Given the description of an element on the screen output the (x, y) to click on. 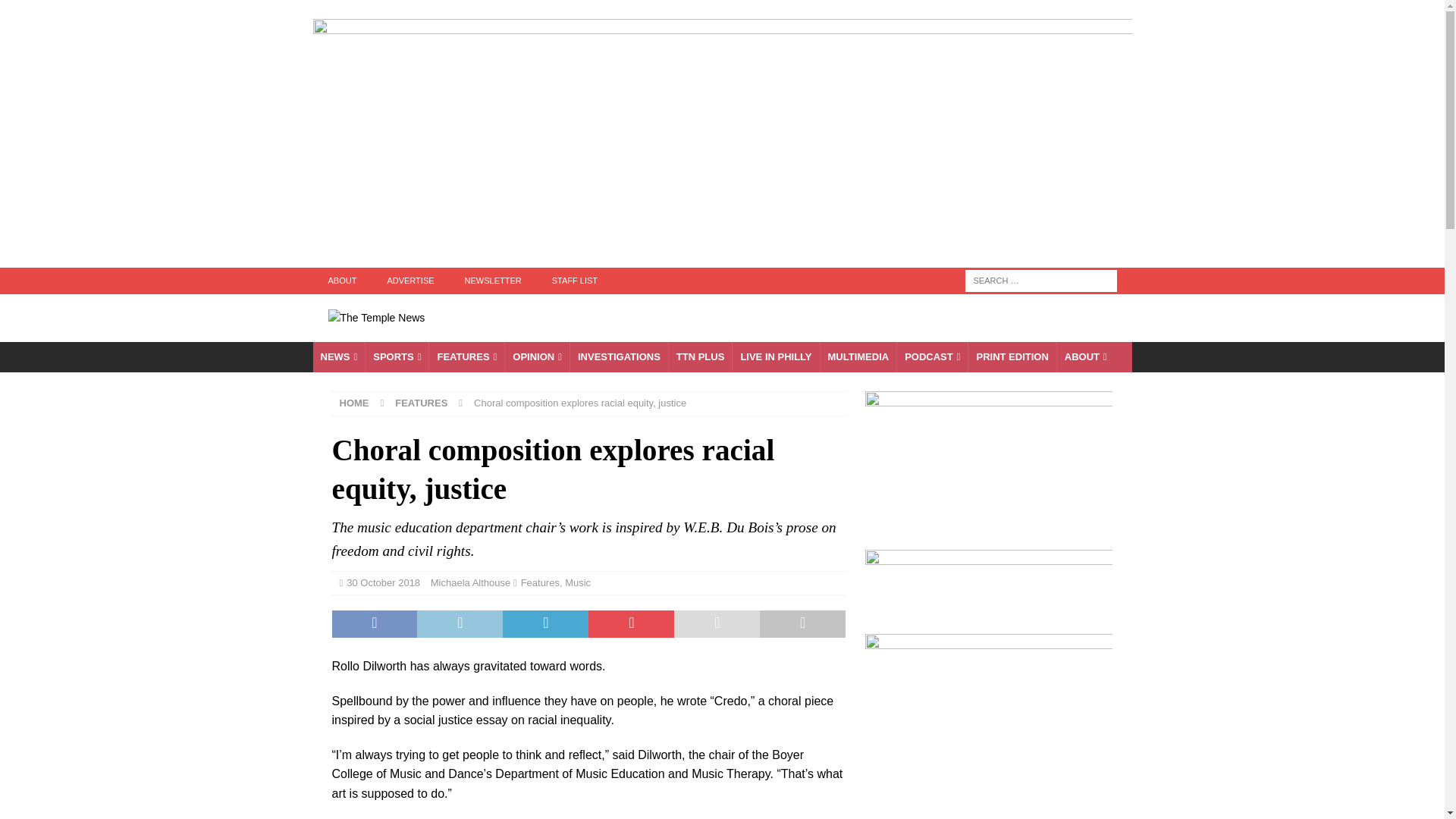
NEWSLETTER (493, 280)
SPORTS (396, 357)
FEATURES (465, 357)
ADVERTISE (409, 280)
Longform (700, 357)
STAFF LIST (574, 280)
Search (56, 11)
ABOUT (342, 280)
Posts by Michaela Althouse (470, 582)
NEWS (339, 357)
